Given the description of an element on the screen output the (x, y) to click on. 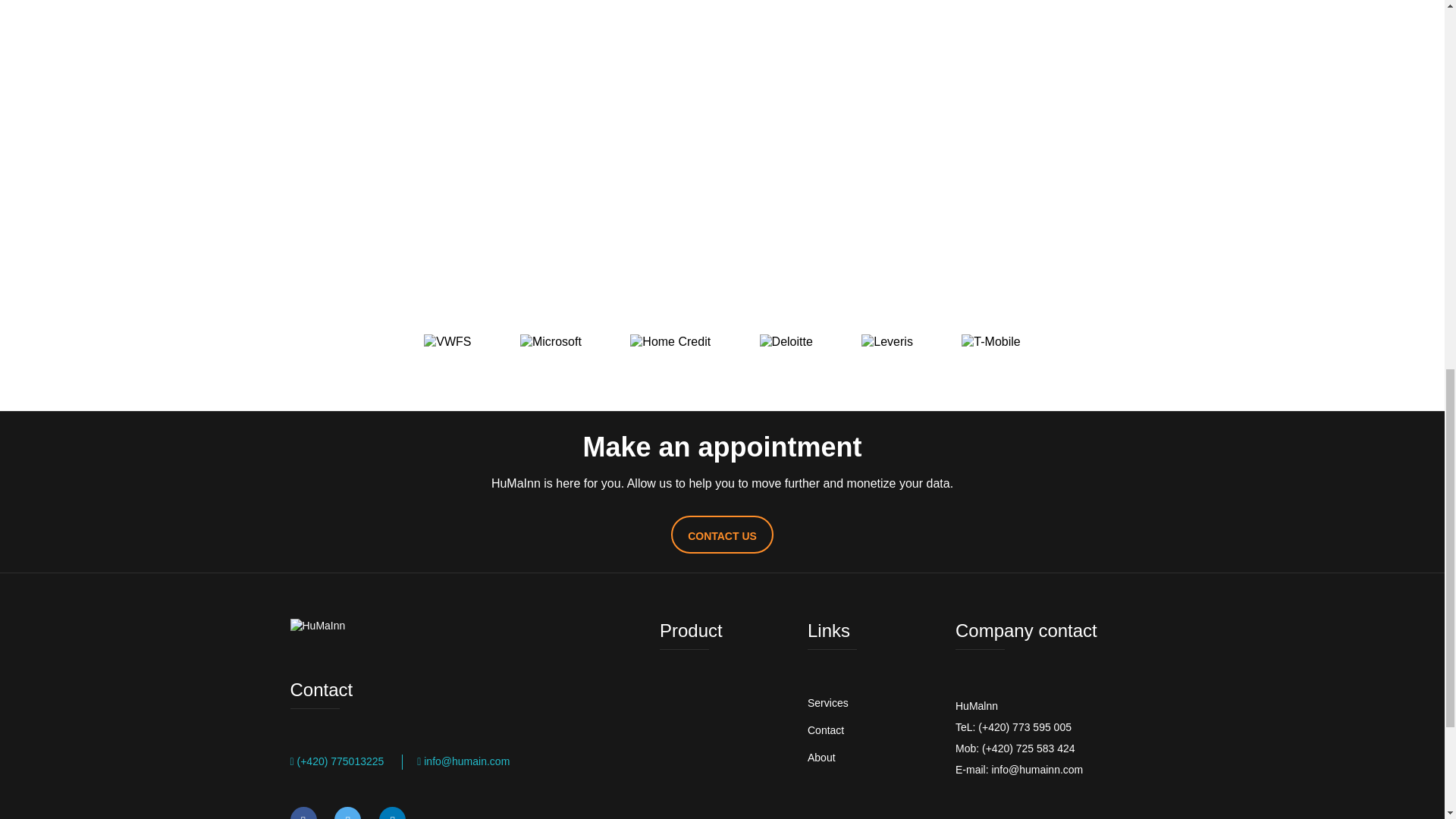
Contact (826, 729)
CONTACT US (722, 534)
Services (828, 702)
About (821, 757)
